Given the description of an element on the screen output the (x, y) to click on. 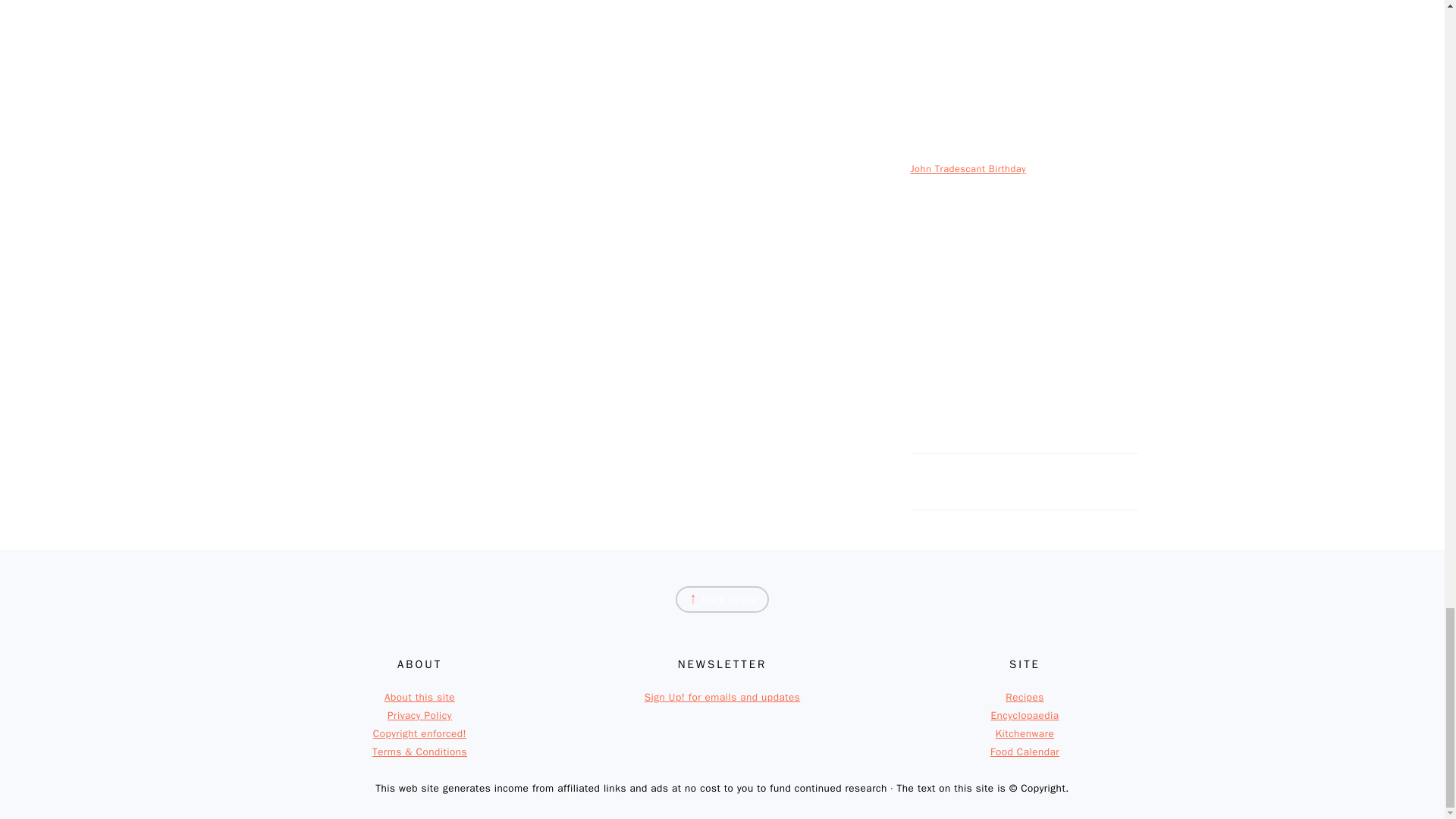
About this site (419, 697)
John Tradescant Birthday (968, 168)
